Given the description of an element on the screen output the (x, y) to click on. 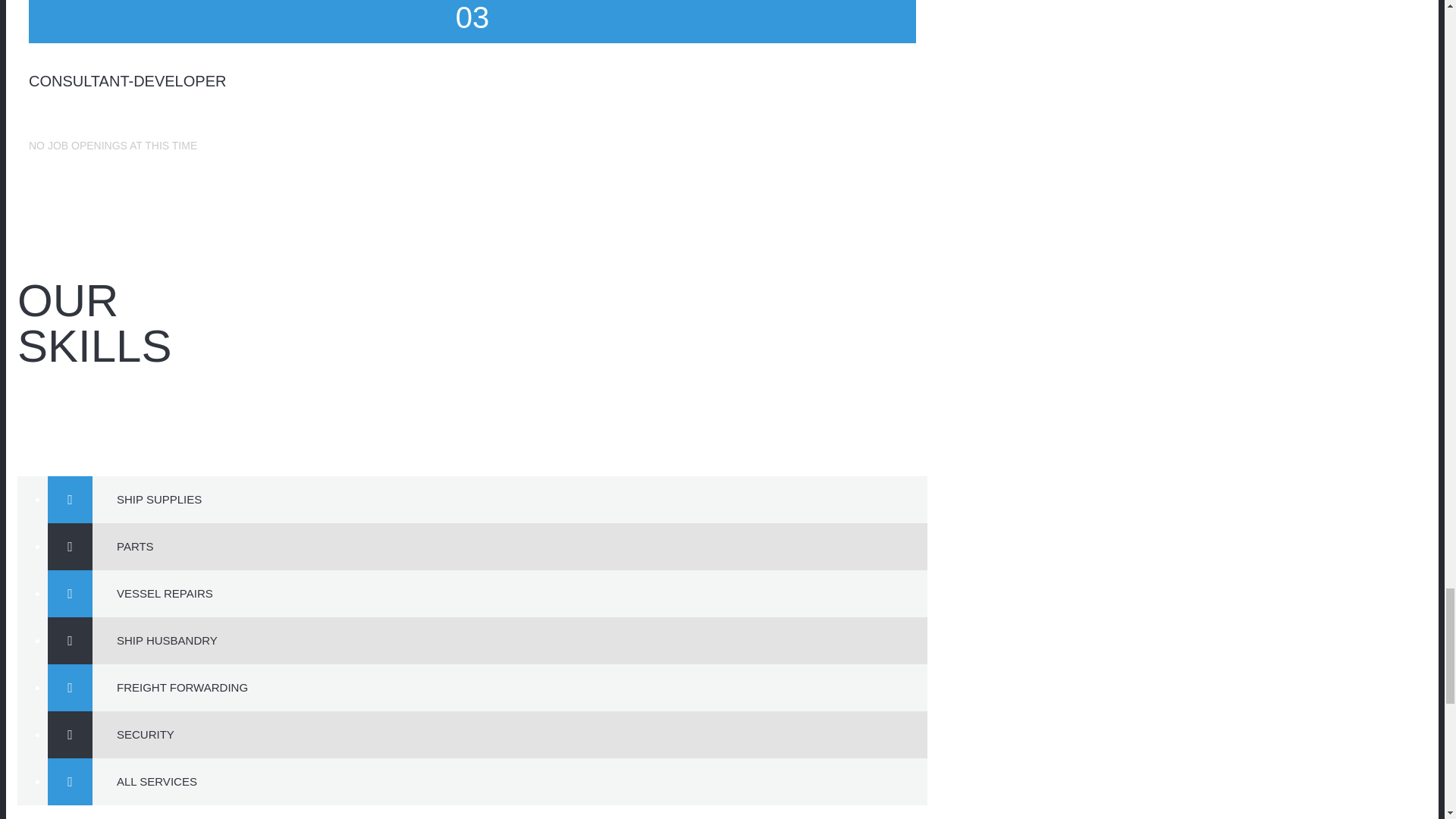
SECURITY (510, 734)
SHIP SUPPLIES (510, 499)
FREIGHT FORWARDING (510, 687)
PARTS (510, 546)
SHIP HUSBANDRY (510, 640)
ALL SERVICES (510, 781)
CONSULTANT-DEVELOPER (127, 80)
VESSEL REPAIRS (510, 593)
